Given the description of an element on the screen output the (x, y) to click on. 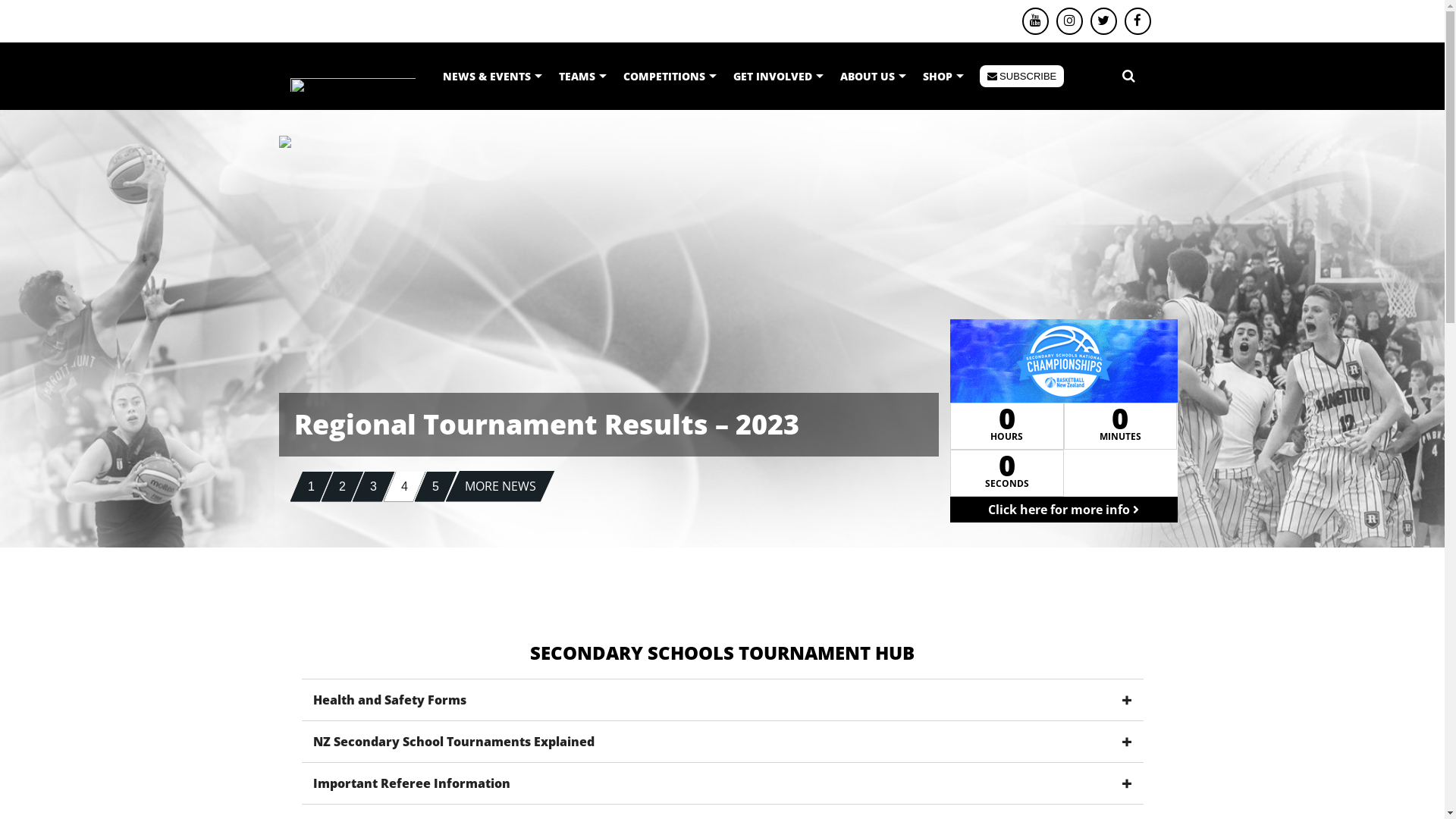
4 Element type: text (404, 486)
MORE NEWS Element type: text (500, 485)
2 Element type: text (342, 486)
3 Element type: text (372, 486)
NZ Secondary School Tournaments Explained Element type: text (722, 741)
NEWS & EVENTS Element type: text (491, 76)
COMPETITIONS Element type: text (669, 76)
Search Element type: hover (1128, 75)
TEAMS Element type: text (582, 76)
SUBSCRIBE Element type: text (1021, 76)
ABOUT US Element type: text (872, 76)
Important Referee Information Element type: text (722, 782)
5 Element type: text (435, 486)
Click here for more info Element type: text (1062, 509)
1 Element type: text (310, 486)
SHOP Element type: text (943, 76)
Health and Safety Forms Element type: text (722, 699)
GET INVOLVED Element type: text (777, 76)
